Given the description of an element on the screen output the (x, y) to click on. 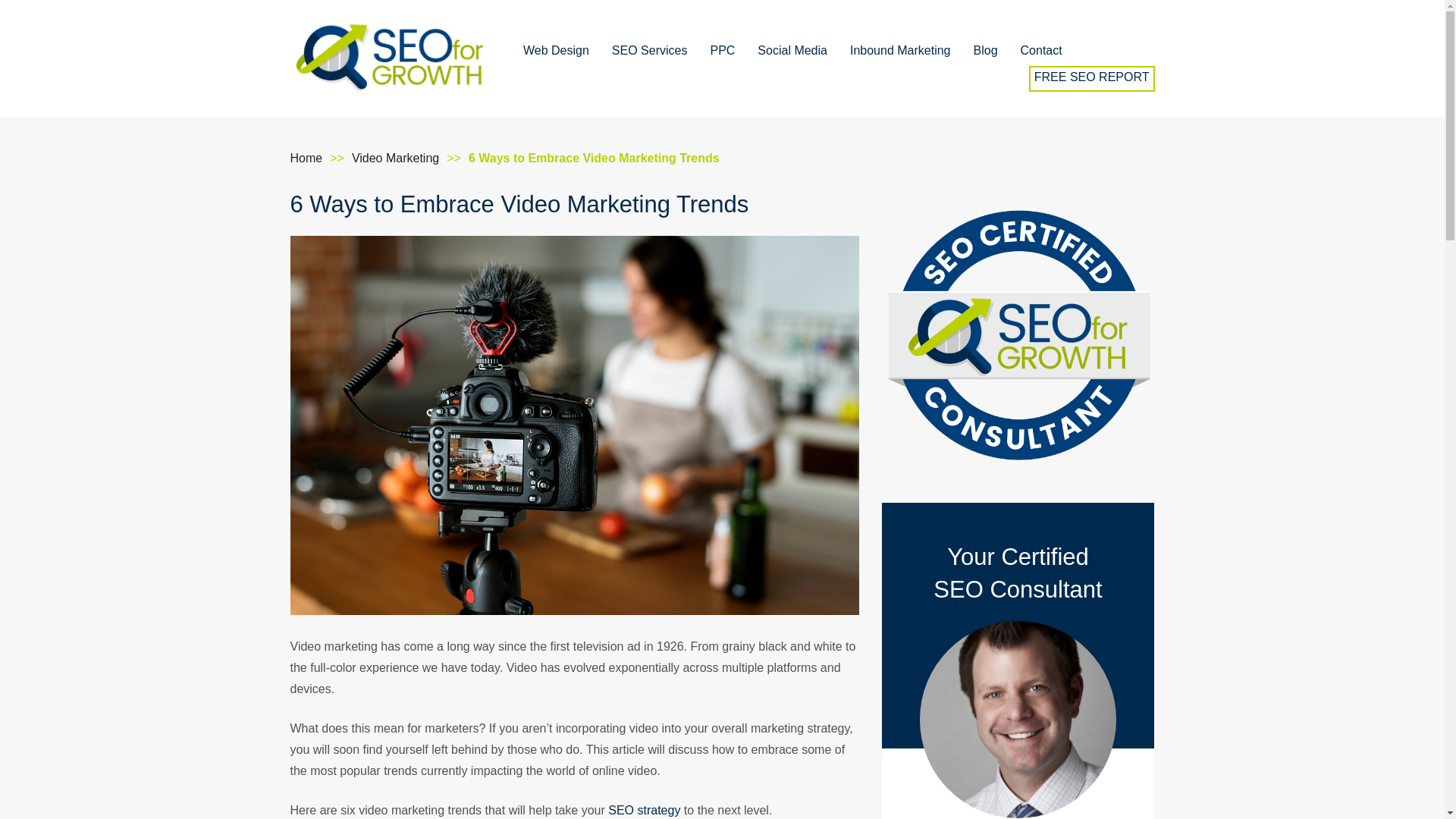
Contact (1041, 53)
Home (305, 157)
Video Marketing (395, 157)
PPC (721, 53)
Web Design (555, 53)
SEO Services (648, 53)
FREE SEO REPORT (1091, 77)
Social Media (791, 53)
6 Ways to Embrace Video Marketing Trends (593, 157)
SEO strategy (643, 809)
